Given the description of an element on the screen output the (x, y) to click on. 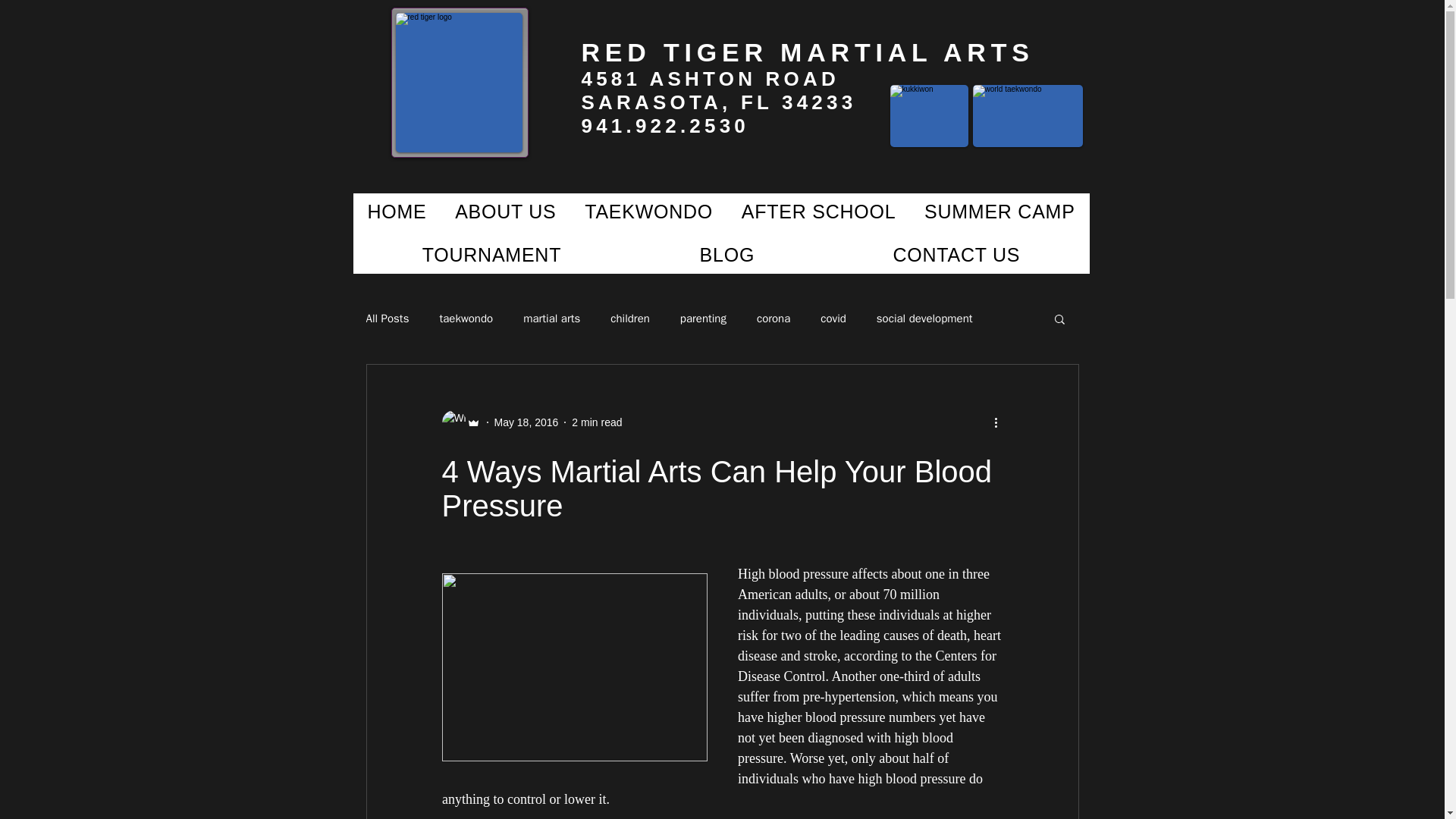
parenting (702, 318)
2 min read (596, 421)
All Posts (387, 318)
corona (773, 318)
AFTER SCHOOL (818, 211)
HOME (397, 211)
covid (833, 318)
children (629, 318)
ABOUT US (505, 211)
BLOG (727, 254)
